Given the description of an element on the screen output the (x, y) to click on. 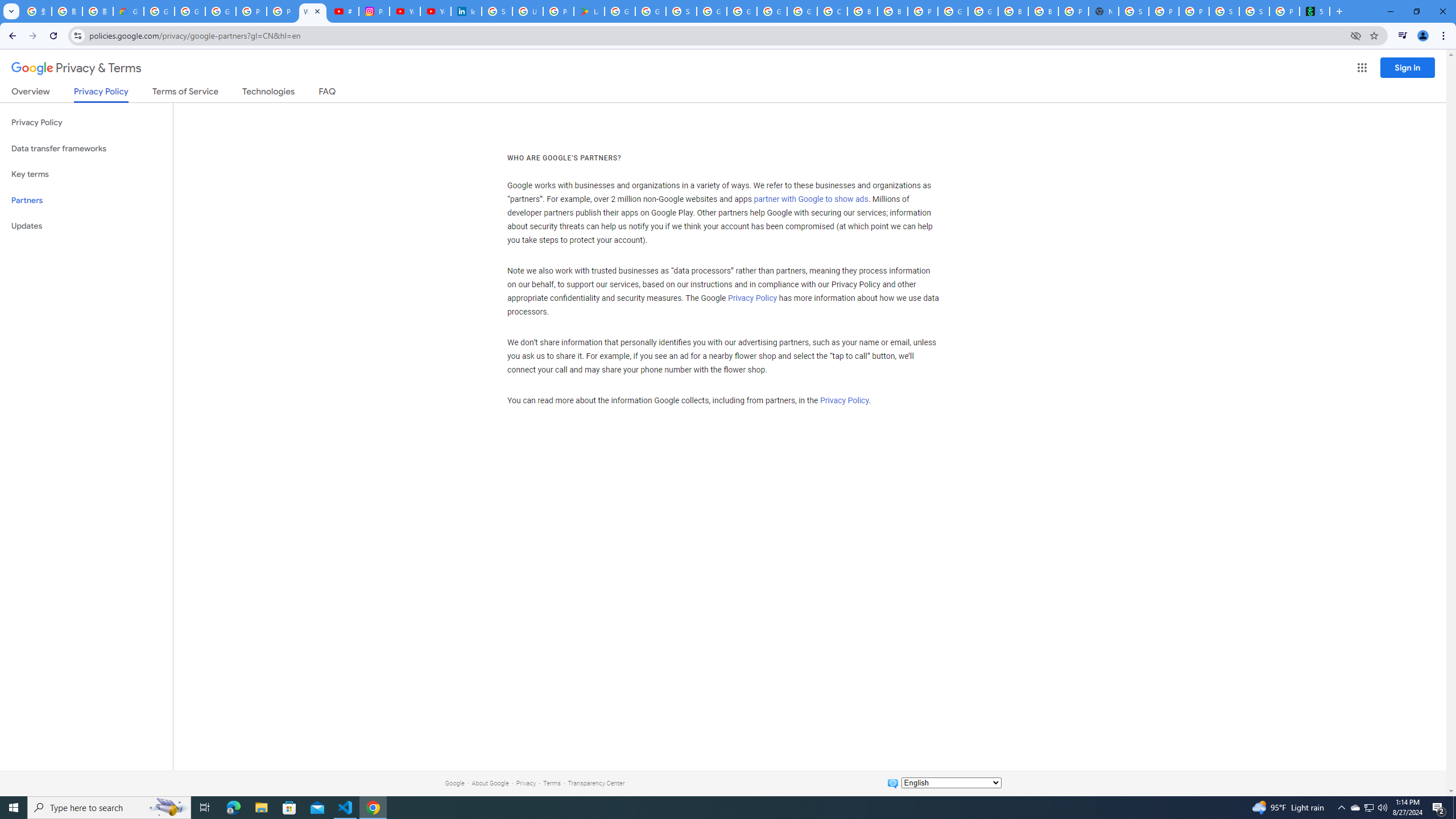
Google Cloud Platform (771, 11)
Privacy Help Center - Policies Help (282, 11)
Transparency Center (595, 783)
YouTube Culture & Trends - On The Rise: Handcam Videos (404, 11)
#nbabasketballhighlights - YouTube (343, 11)
